Given the description of an element on the screen output the (x, y) to click on. 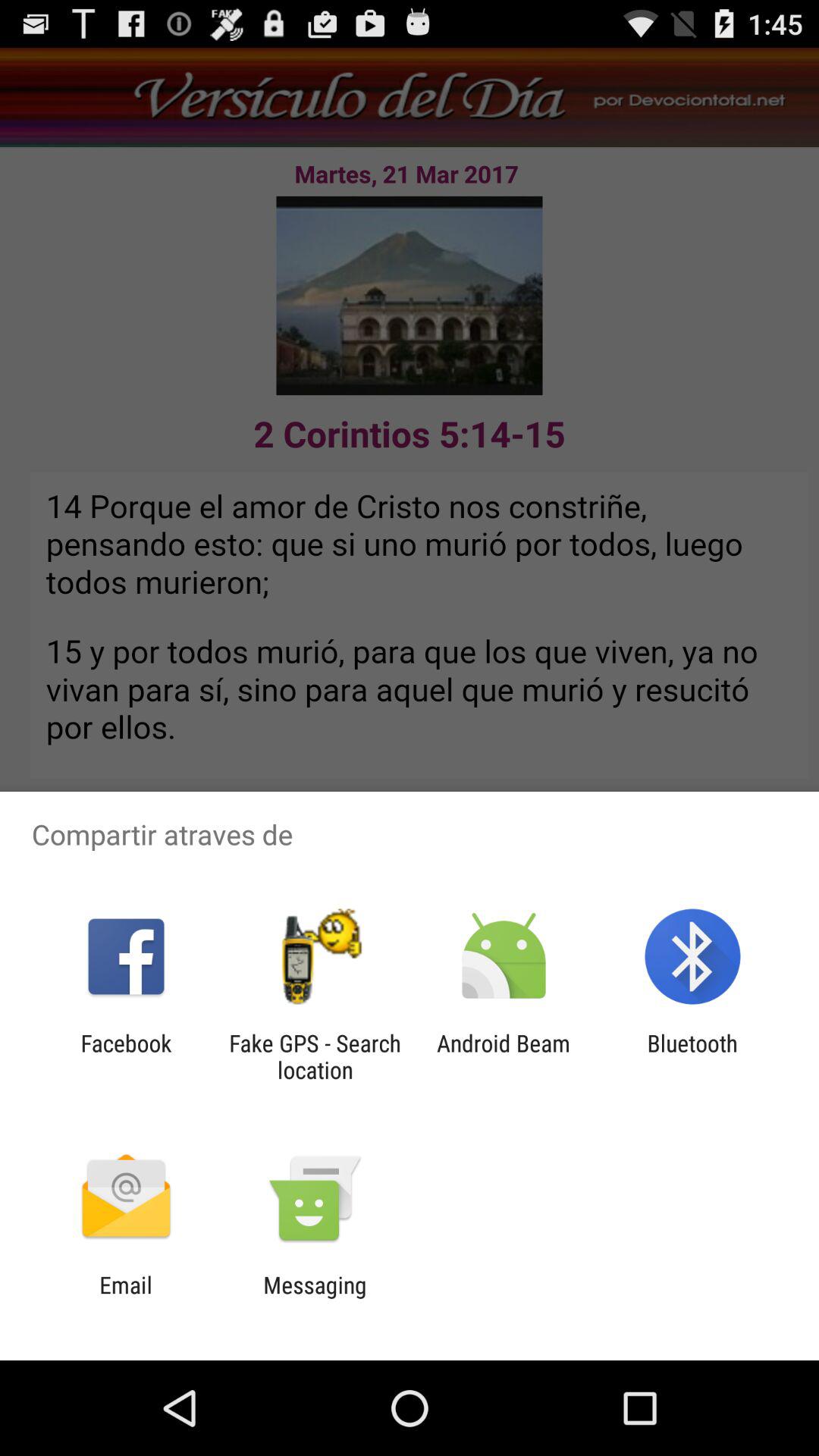
press item to the right of the email item (314, 1298)
